Given the description of an element on the screen output the (x, y) to click on. 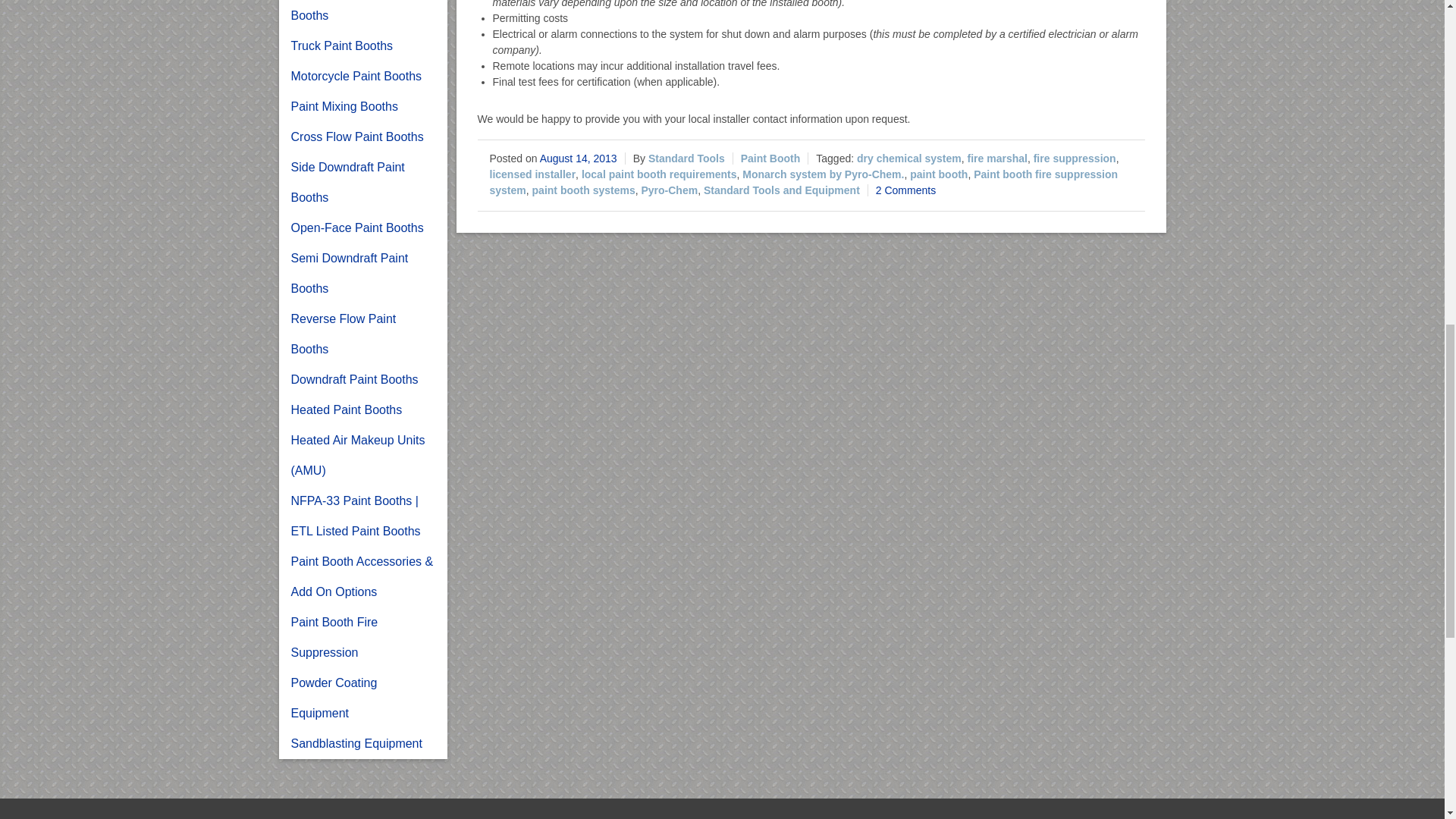
Woodworking Spray Booths (362, 15)
August 14, 2013 (578, 158)
Truck Paint Booths (362, 46)
Paint Booth (770, 158)
Motorcycle Paint Booths (362, 76)
Standard Tools (686, 158)
dry chemical system (908, 158)
